Given the description of an element on the screen output the (x, y) to click on. 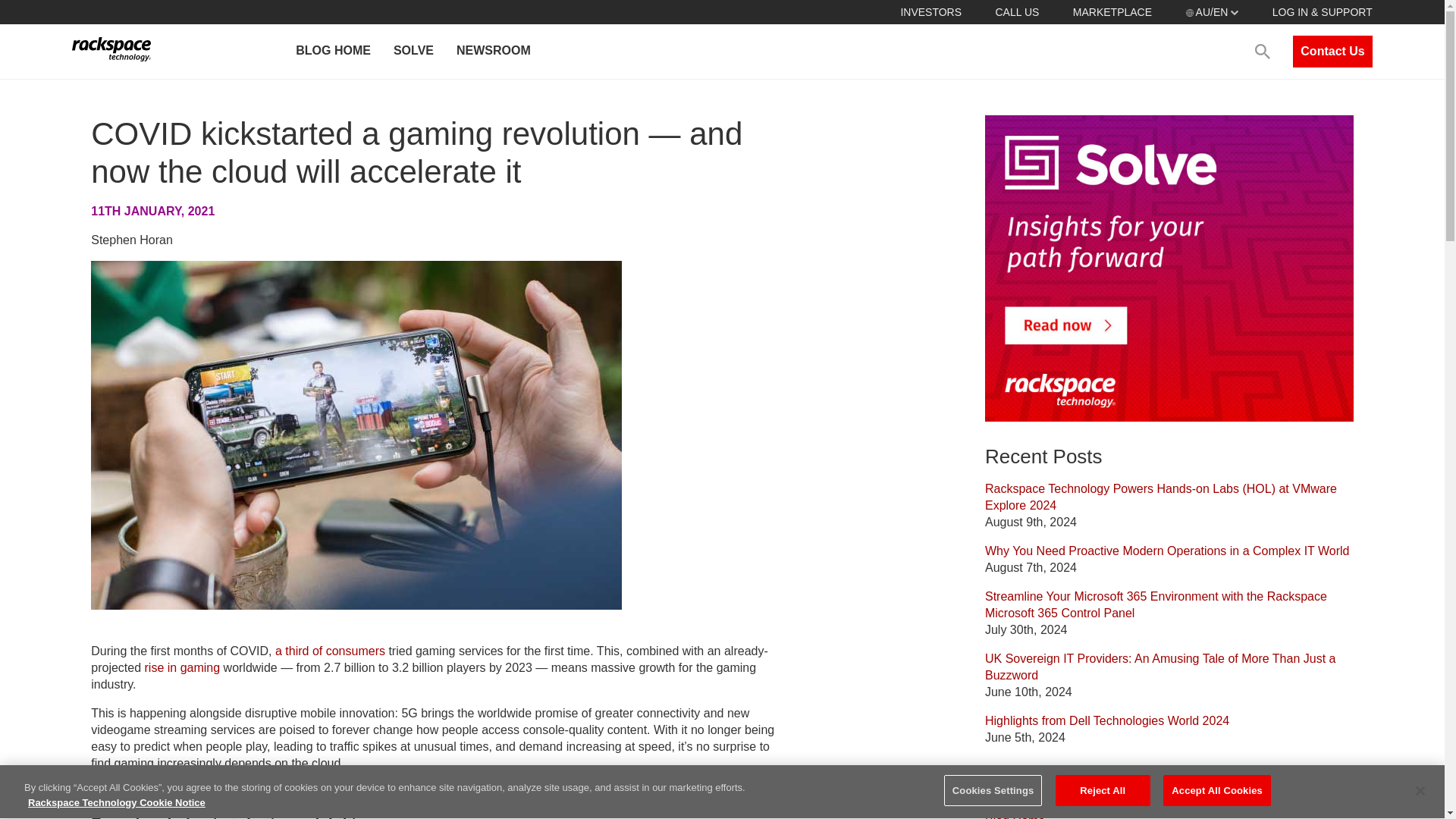
NEWSROOM (493, 51)
CALL US (1016, 11)
Highlights from Dell Technologies World 2024 (1106, 720)
BLOG HOME (332, 51)
rise in gaming (182, 667)
Contact Us (1331, 51)
